Given the description of an element on the screen output the (x, y) to click on. 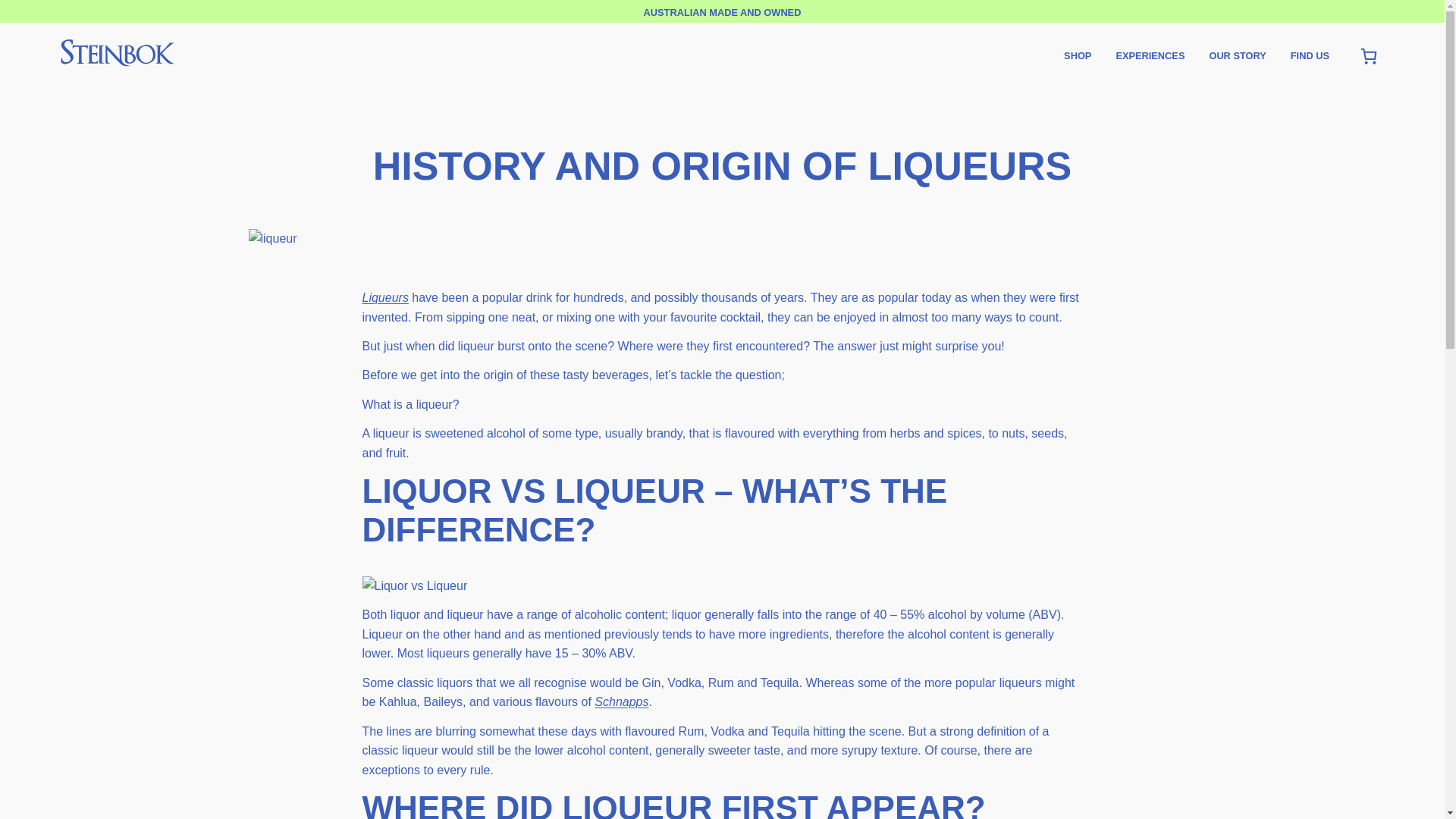
OUR STORY (1236, 55)
EXPERIENCES (1150, 55)
SHOP (1077, 55)
FIND US (1309, 55)
Schnapps (620, 701)
Liqueurs (385, 297)
